Given the description of an element on the screen output the (x, y) to click on. 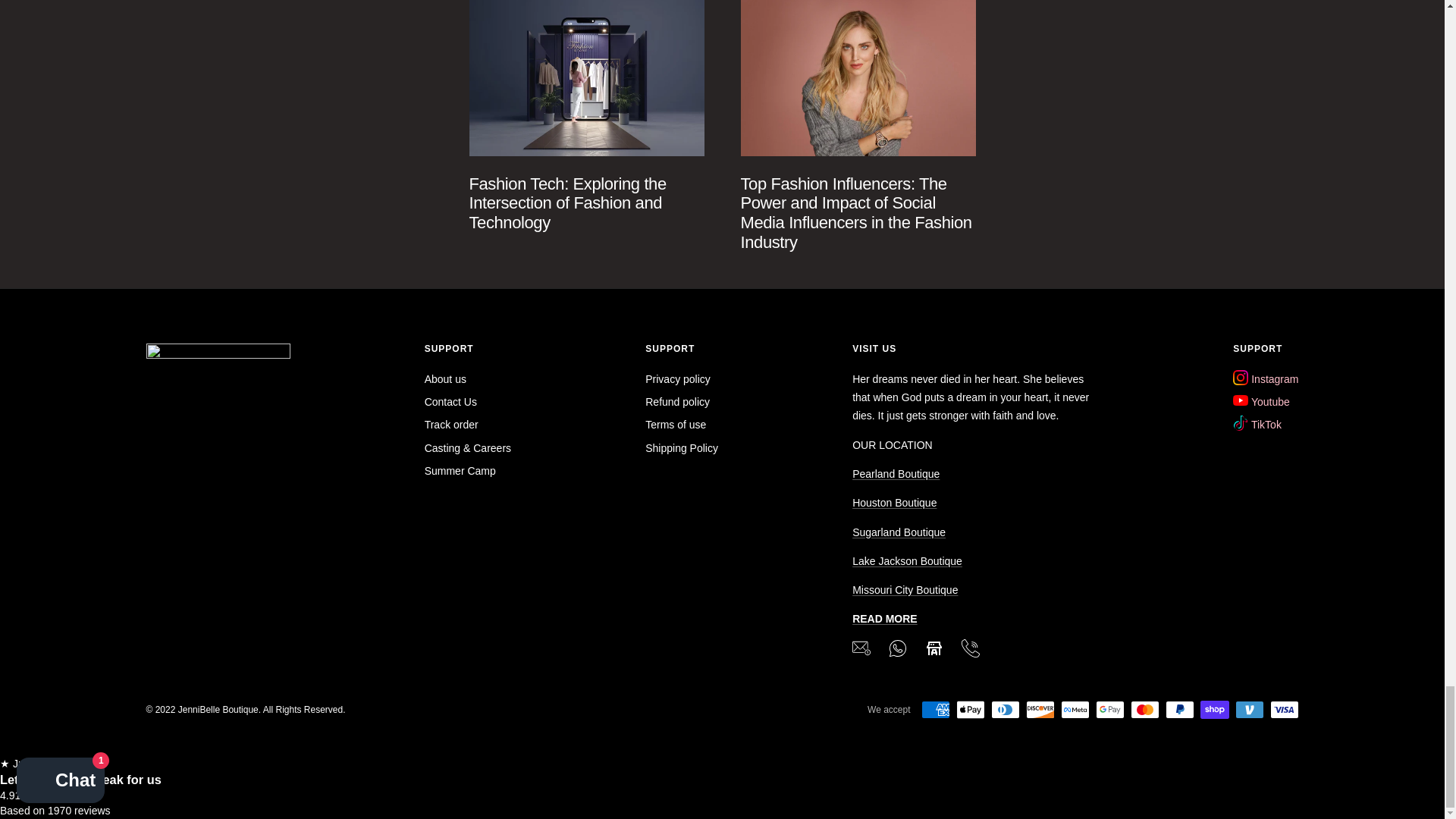
Sugarland Boutique (897, 532)
About us (884, 618)
Missouri City Boutique (904, 589)
Pearland Boutique (895, 473)
